Given the description of an element on the screen output the (x, y) to click on. 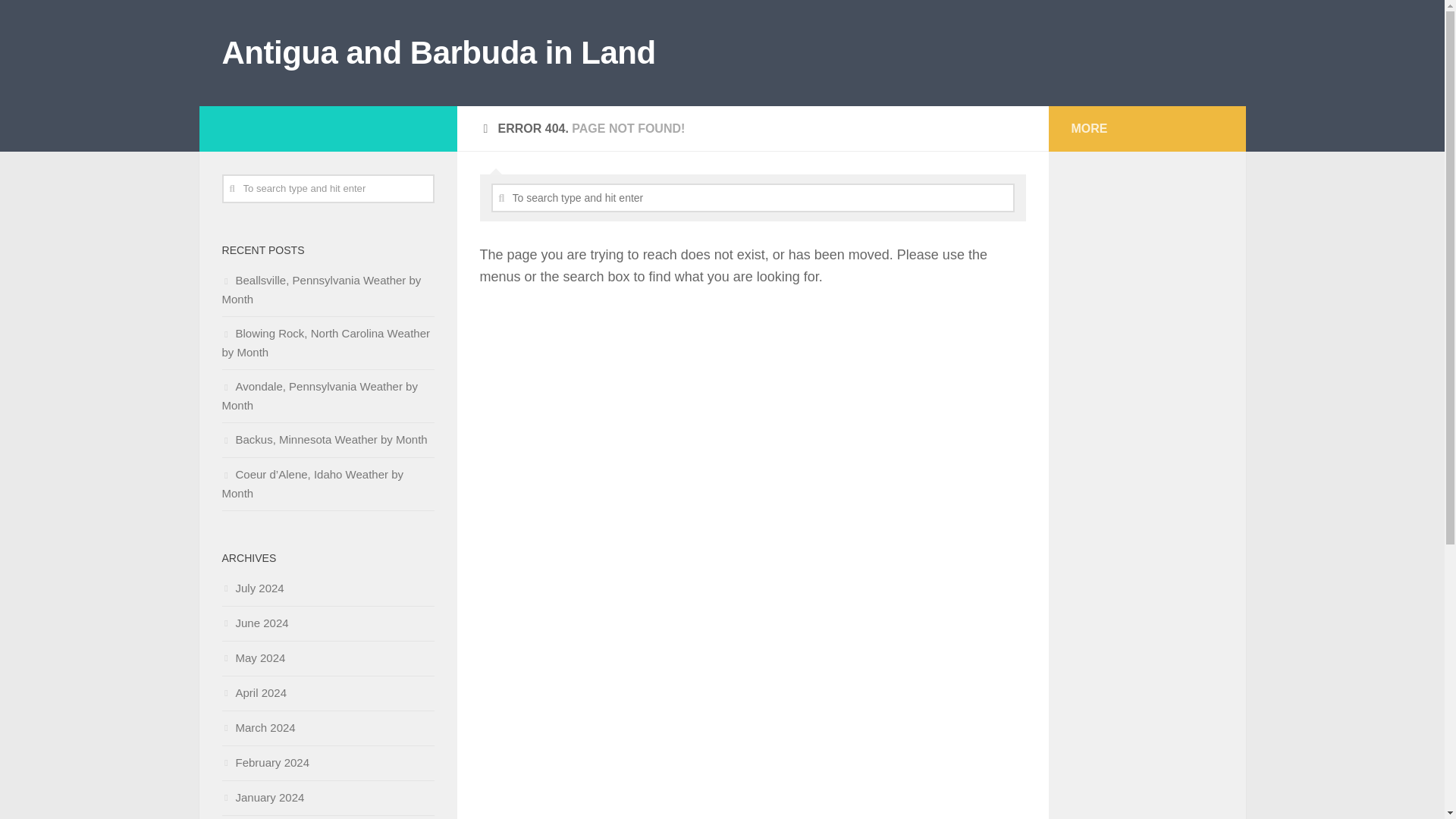
February 2024 (264, 762)
Blowing Rock, North Carolina Weather by Month (325, 342)
January 2024 (262, 797)
To search type and hit enter (753, 197)
Beallsville, Pennsylvania Weather by Month (320, 289)
Avondale, Pennsylvania Weather by Month (318, 395)
To search type and hit enter (327, 188)
Backus, Minnesota Weather by Month (323, 439)
Antigua and Barbuda in Land (438, 53)
July 2024 (252, 587)
April 2024 (253, 692)
To search type and hit enter (753, 197)
June 2024 (254, 622)
May 2024 (253, 657)
March 2024 (258, 727)
